Given the description of an element on the screen output the (x, y) to click on. 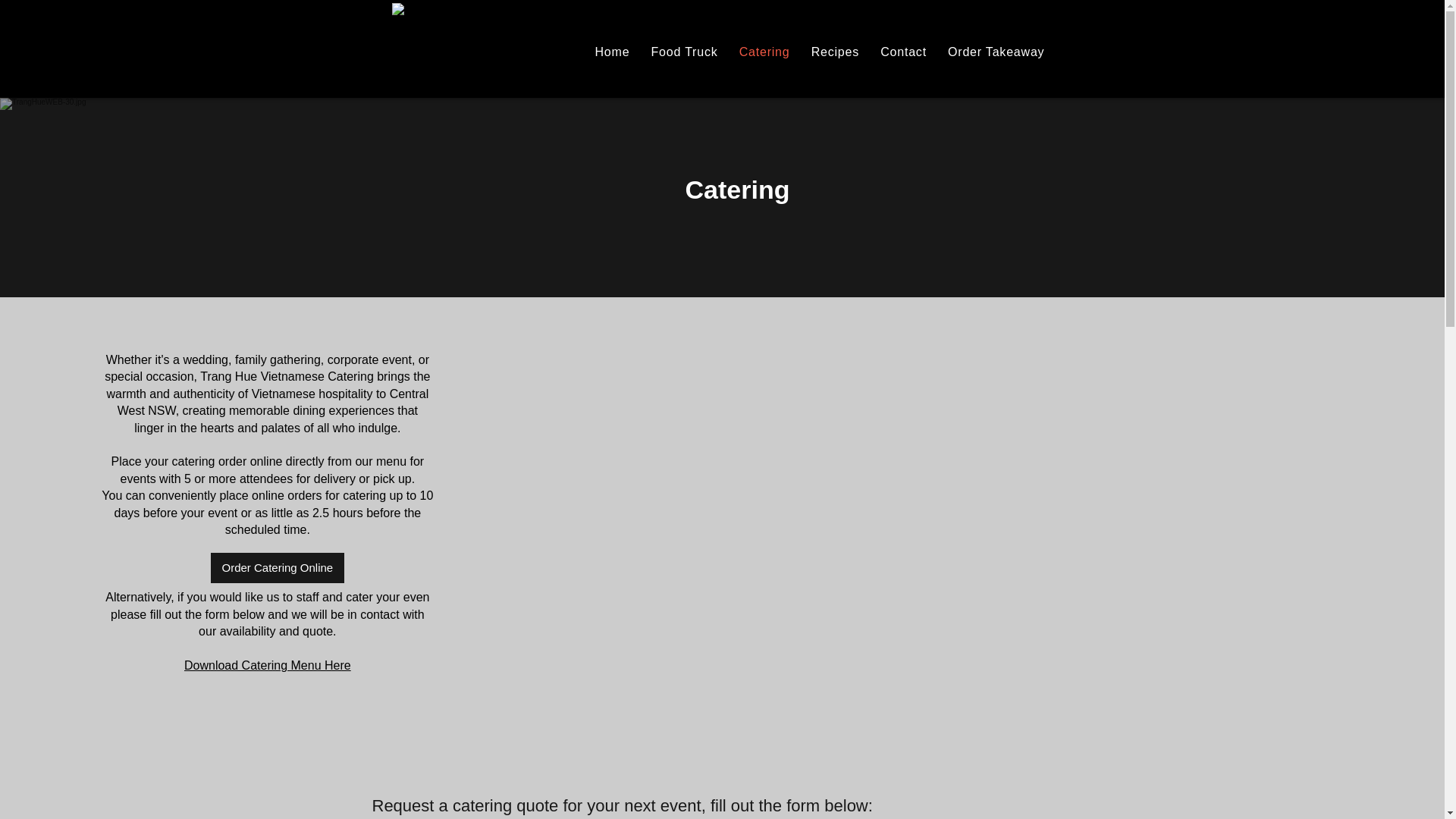
Download Catering Menu Here (267, 665)
Contact (906, 51)
Order Catering Online (277, 567)
Recipes (839, 51)
Order Takeaway (999, 51)
Home (616, 51)
Food Truck (688, 51)
Catering (767, 51)
